Given the description of an element on the screen output the (x, y) to click on. 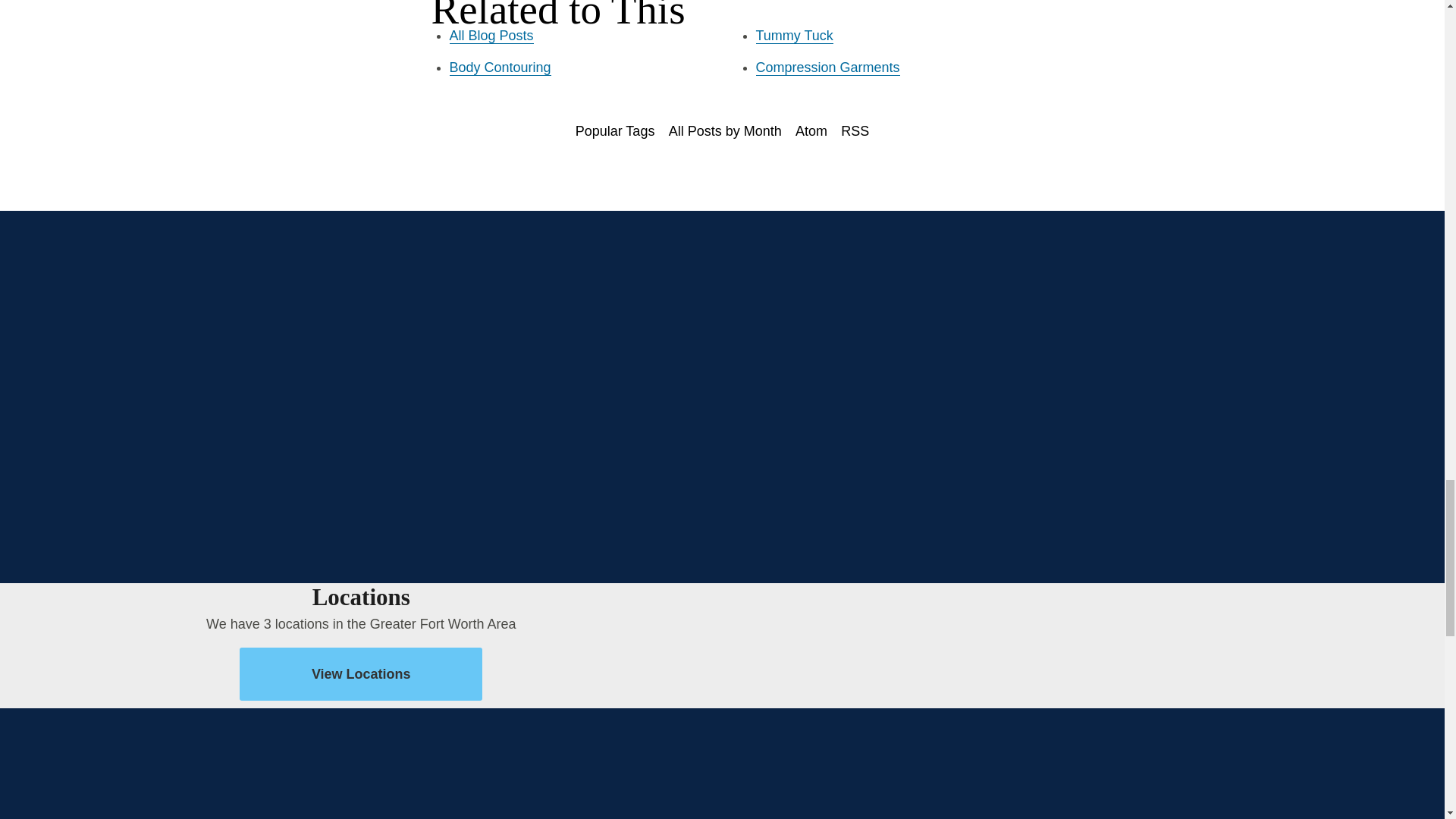
View Locations (360, 674)
Compression Garments (827, 67)
All Posts by Month (725, 131)
All Blog Posts (490, 35)
Tummy Tuck (793, 35)
RSS (855, 131)
Atom (811, 131)
Locations (833, 594)
Body Contouring (499, 67)
Popular Tags (615, 131)
